Given the description of an element on the screen output the (x, y) to click on. 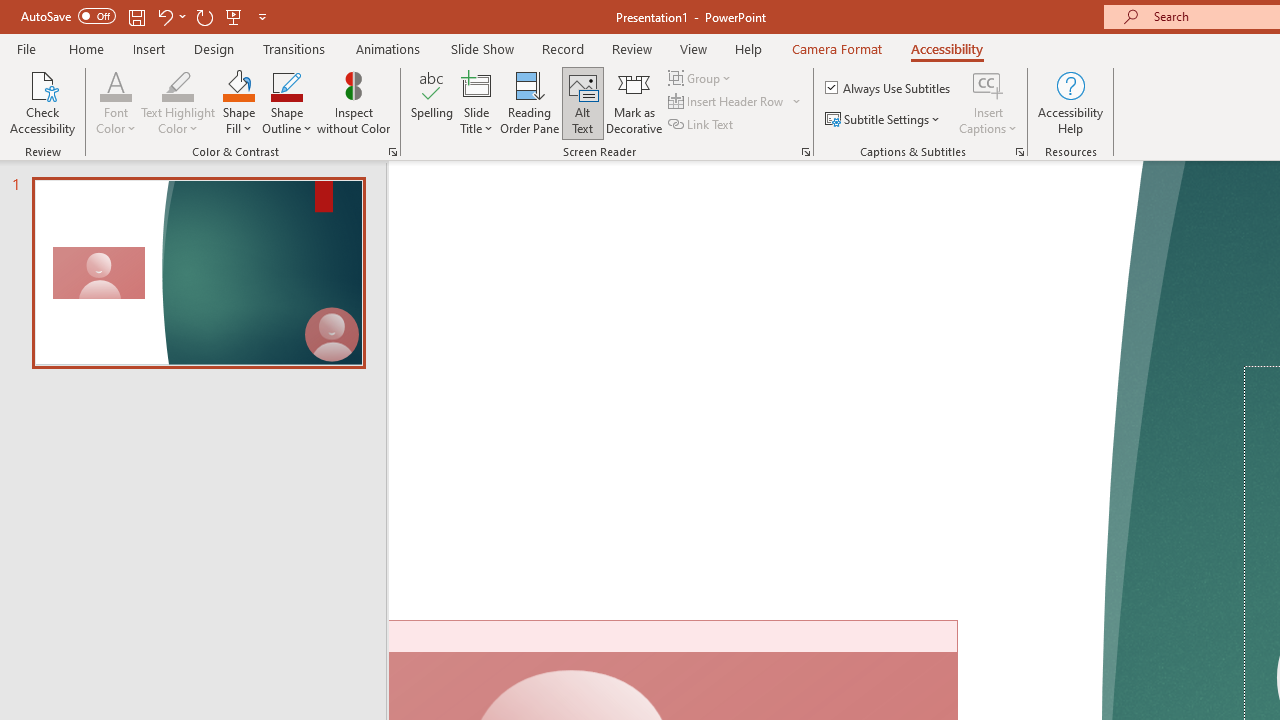
Slide Title (476, 84)
Captions & Subtitles (1019, 151)
Group (701, 78)
Subtitle Settings (884, 119)
Inspect without Color (353, 102)
Screen Reader (805, 151)
Accessibility Help (1070, 102)
Camera Format (836, 48)
